Given the description of an element on the screen output the (x, y) to click on. 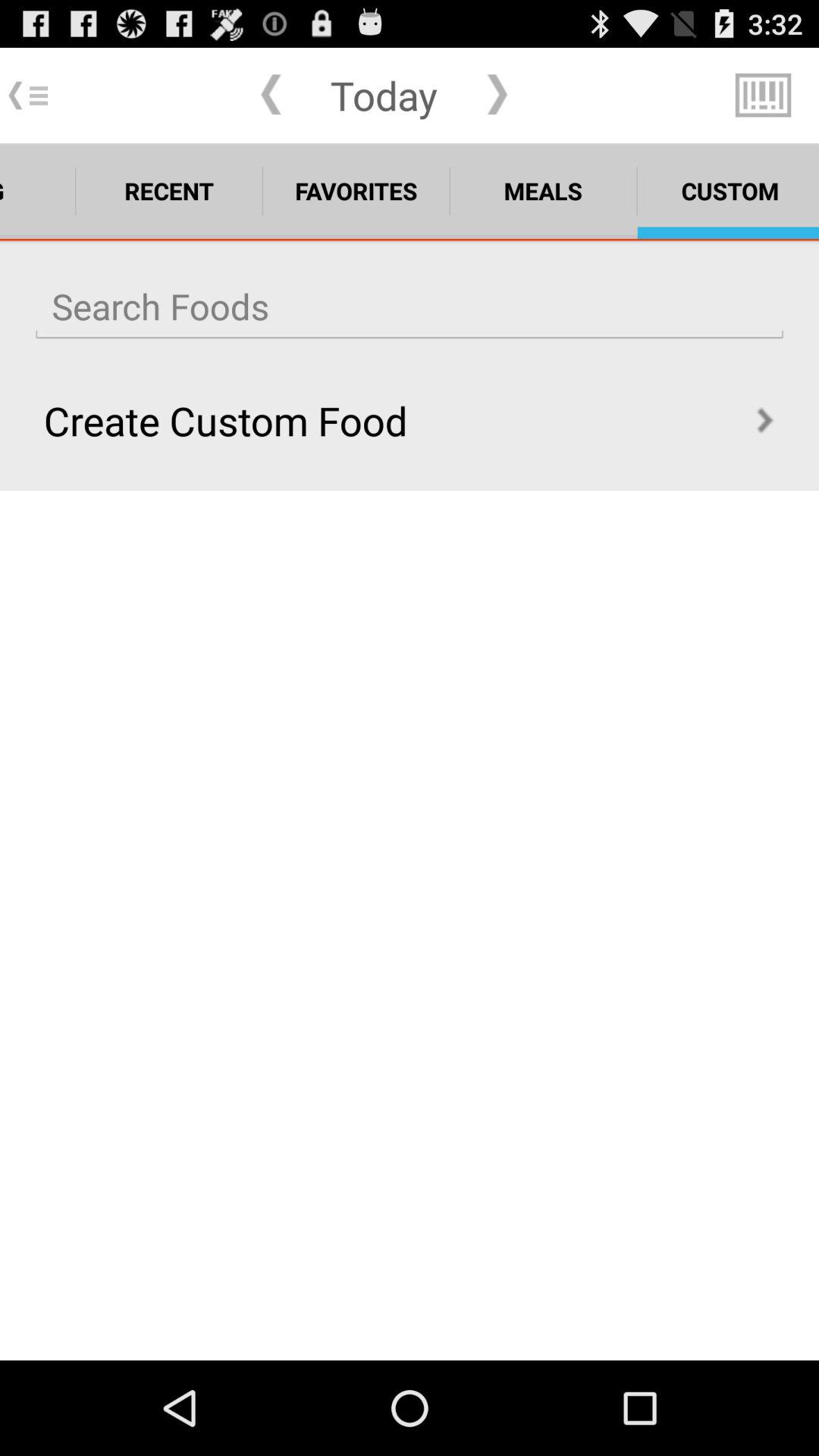
choose the item above custom item (763, 95)
